Given the description of an element on the screen output the (x, y) to click on. 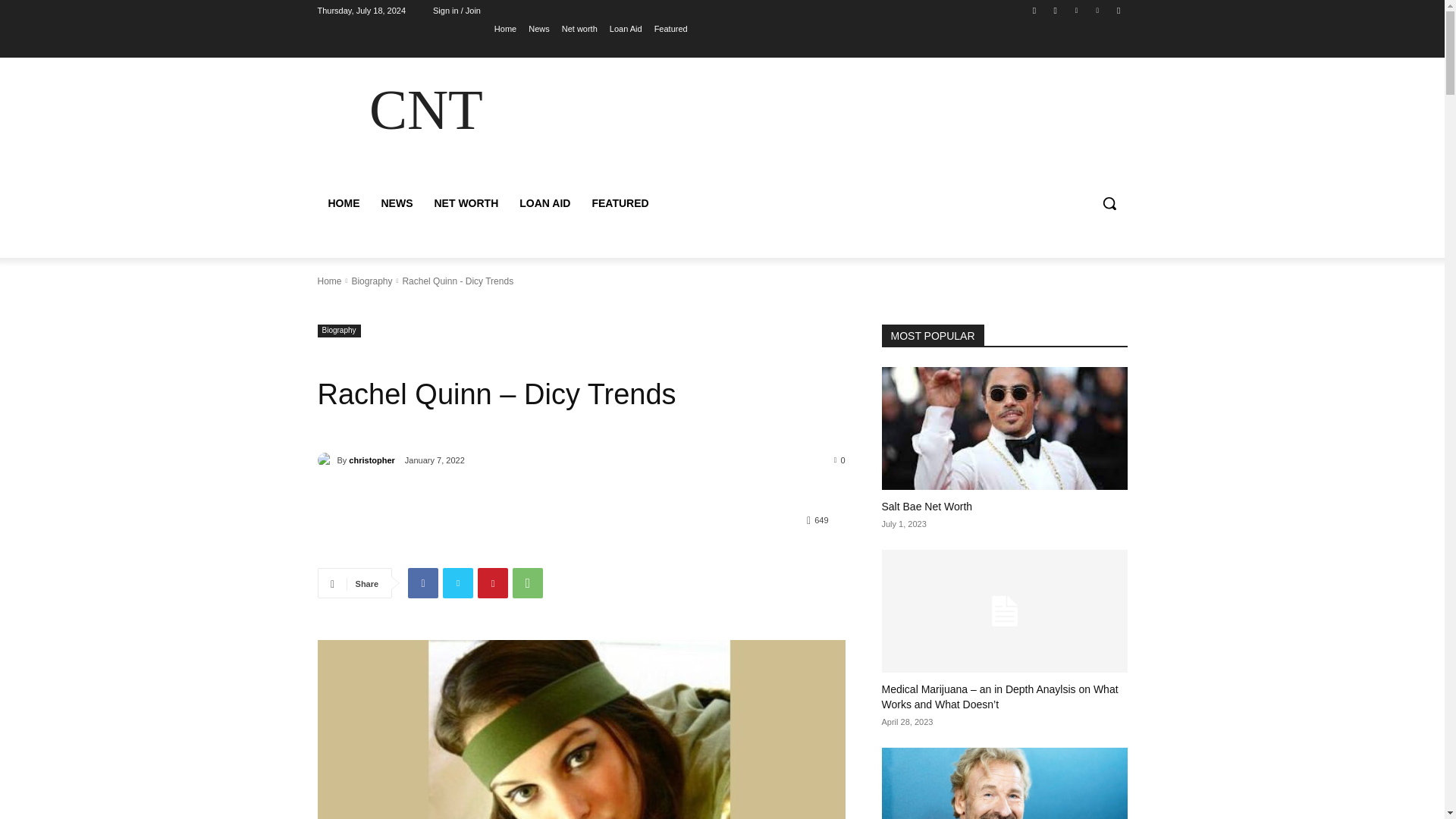
Facebook (422, 583)
HOME (343, 203)
Vimeo (1097, 9)
Instagram (1055, 9)
Net worth (579, 28)
NEWS (396, 203)
CNT (425, 109)
NET WORTH (465, 203)
LOAN AID (544, 203)
Youtube (1117, 9)
Loan Aid (626, 28)
FEATURED (619, 203)
Twitter (1075, 9)
Pinterest (492, 583)
WhatsApp (527, 583)
